Given the description of an element on the screen output the (x, y) to click on. 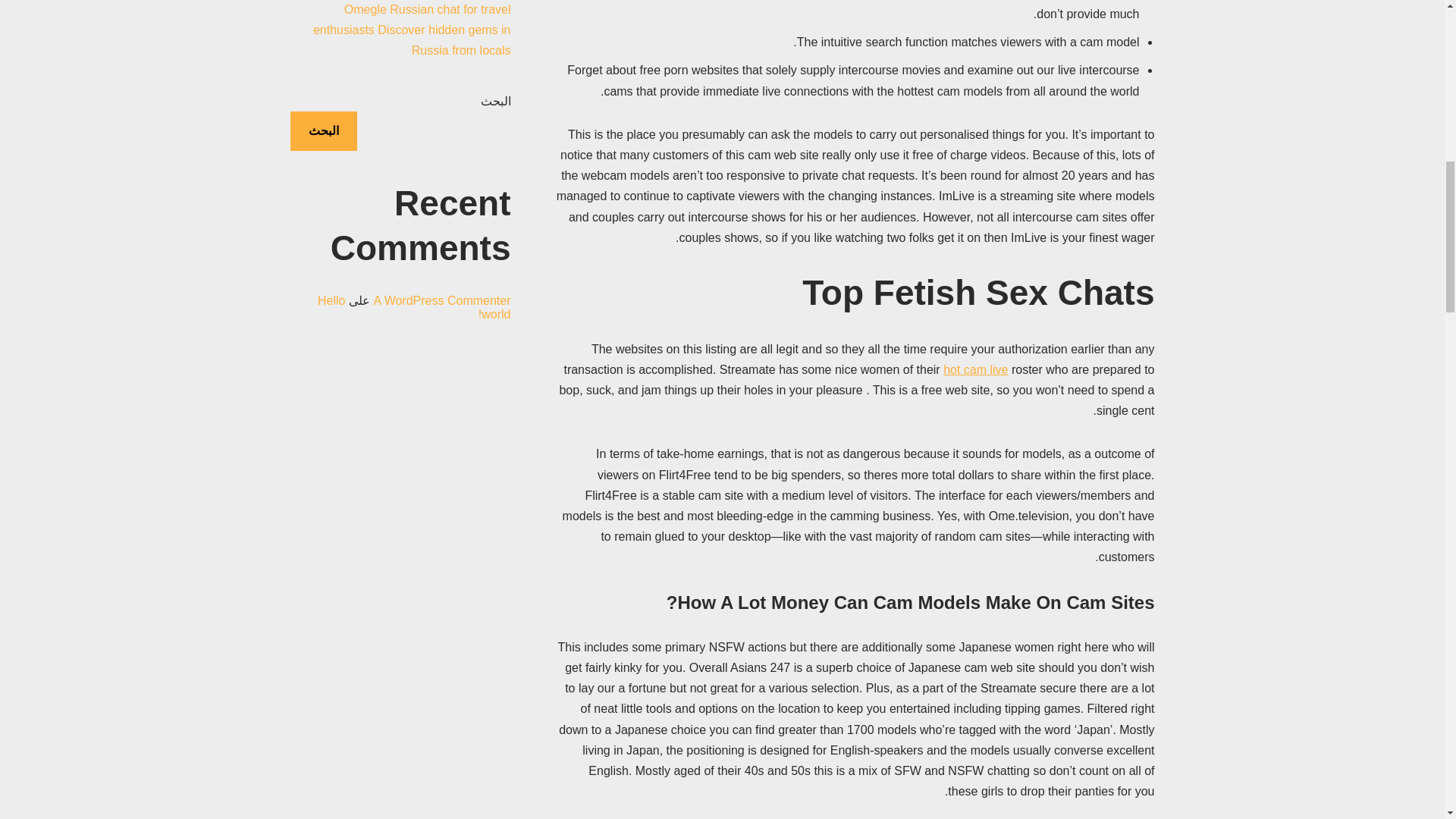
hot cam live (975, 369)
Hello world! (414, 327)
A WordPress Commenter (441, 320)
